Given the description of an element on the screen output the (x, y) to click on. 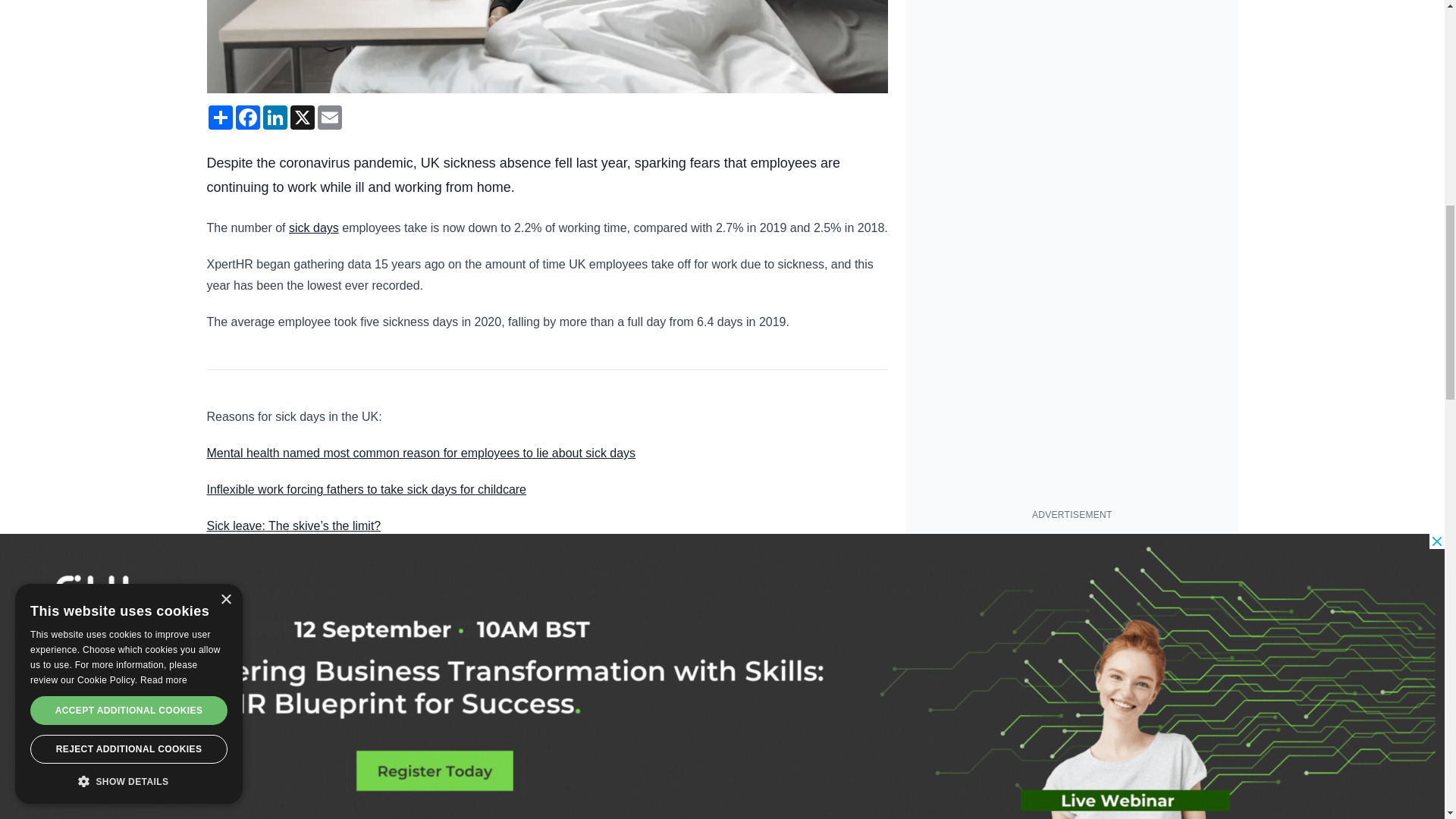
3rd party ad content (1072, 626)
